Given the description of an element on the screen output the (x, y) to click on. 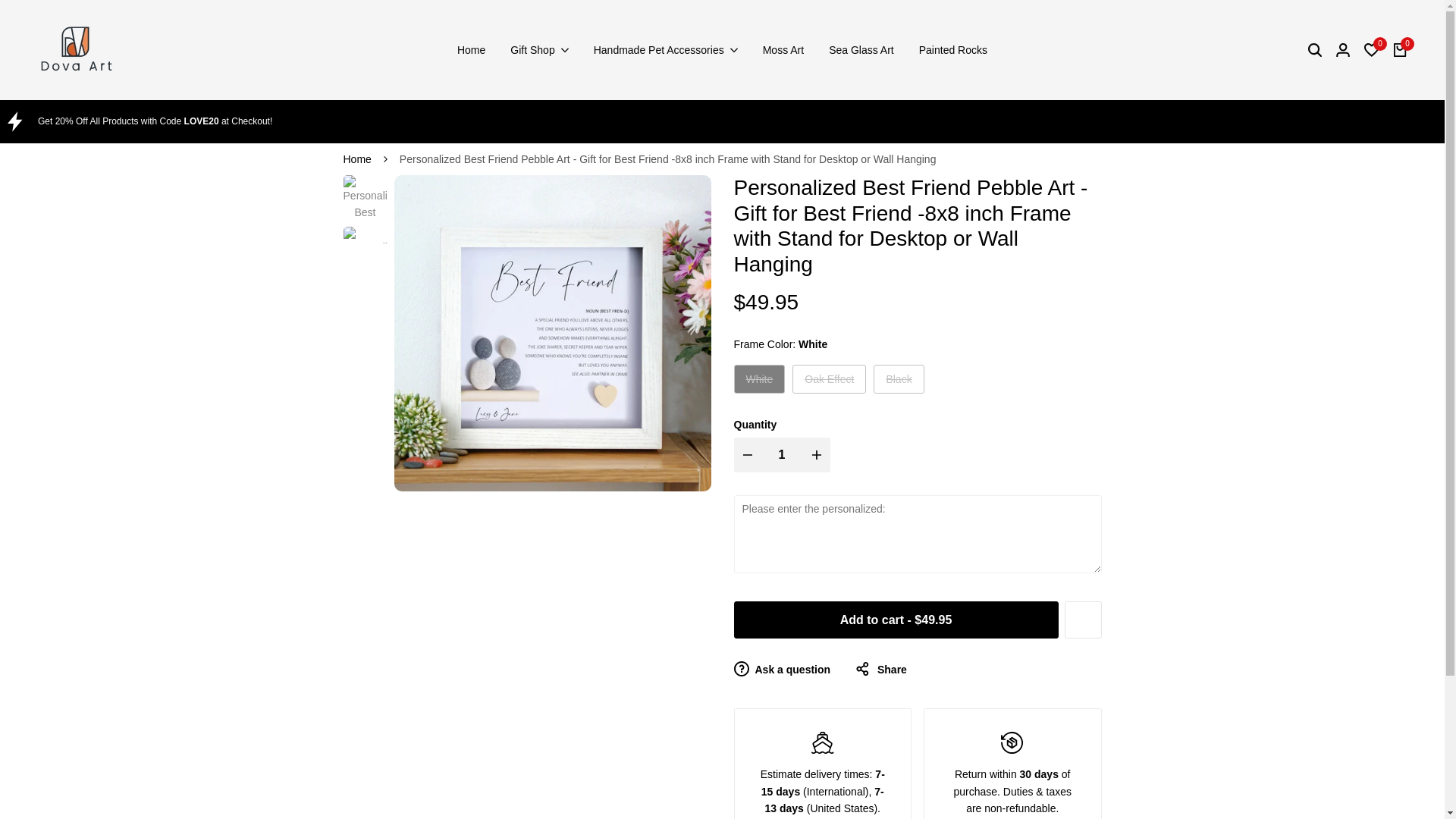
Add to Wishlist (1083, 619)
Painted Rocks (952, 50)
0 (1371, 49)
0 (1399, 49)
Ask a question (782, 669)
Skip to content (7, 3)
Home (356, 158)
Sea Glass Art (860, 50)
